Given the description of an element on the screen output the (x, y) to click on. 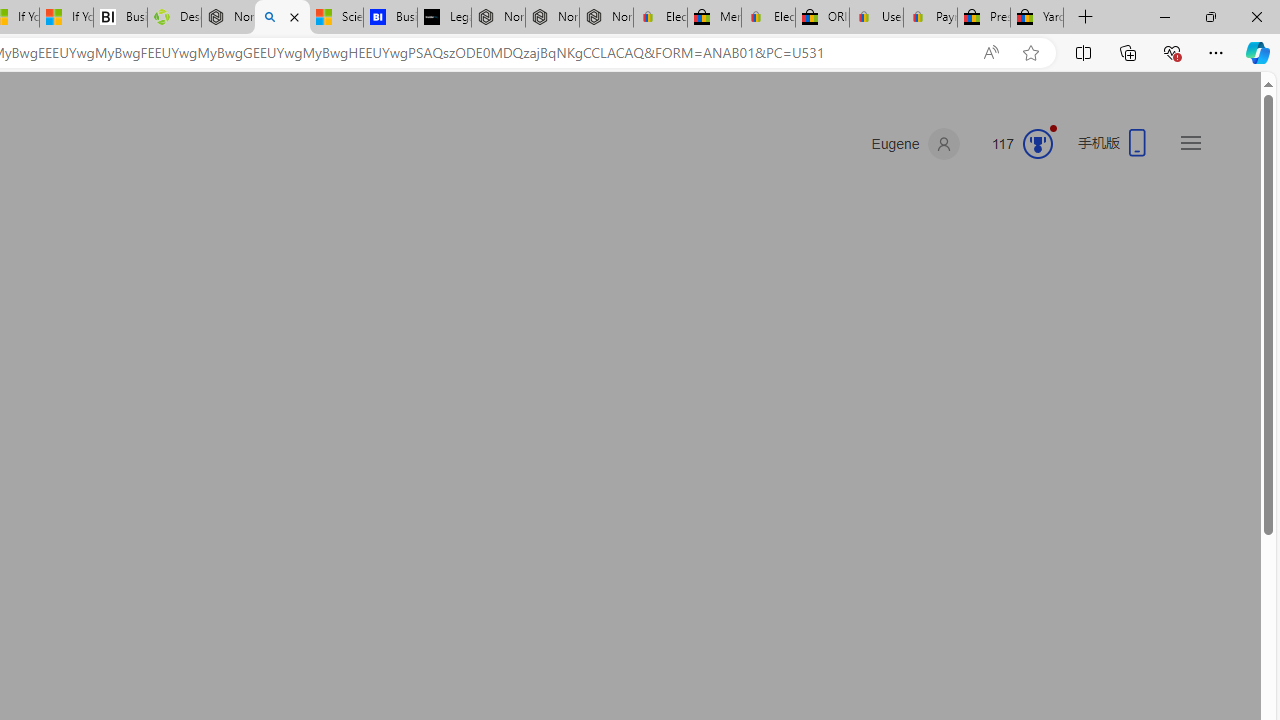
Electronics, Cars, Fashion, Collectibles & More | eBay (768, 17)
Payments Terms of Use | eBay.com (930, 17)
alabama high school quarterback dies - Search (282, 17)
